Given the description of an element on the screen output the (x, y) to click on. 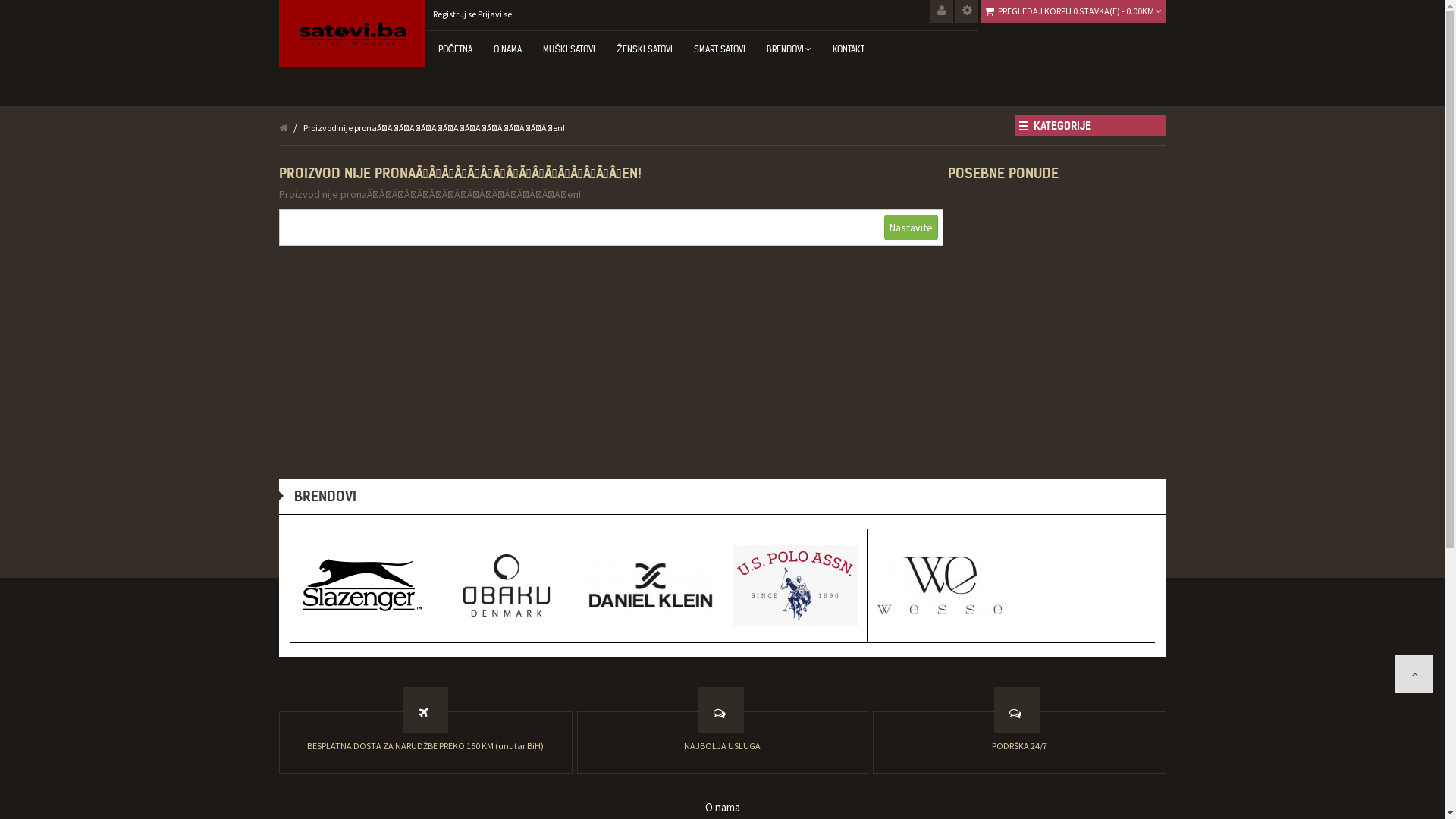
SMART SATOVI Element type: text (719, 49)
BRENDOVI Element type: text (789, 49)
KONTAKT Element type: text (848, 49)
Prijavi se Element type: text (494, 13)
Registruj se Element type: text (453, 13)
PREGLEDAJ KORPU 0 STAVKA(E) - 0.00KM Element type: text (1079, 10)
O NAMA Element type: text (507, 49)
Nastavite Element type: text (911, 227)
